Given the description of an element on the screen output the (x, y) to click on. 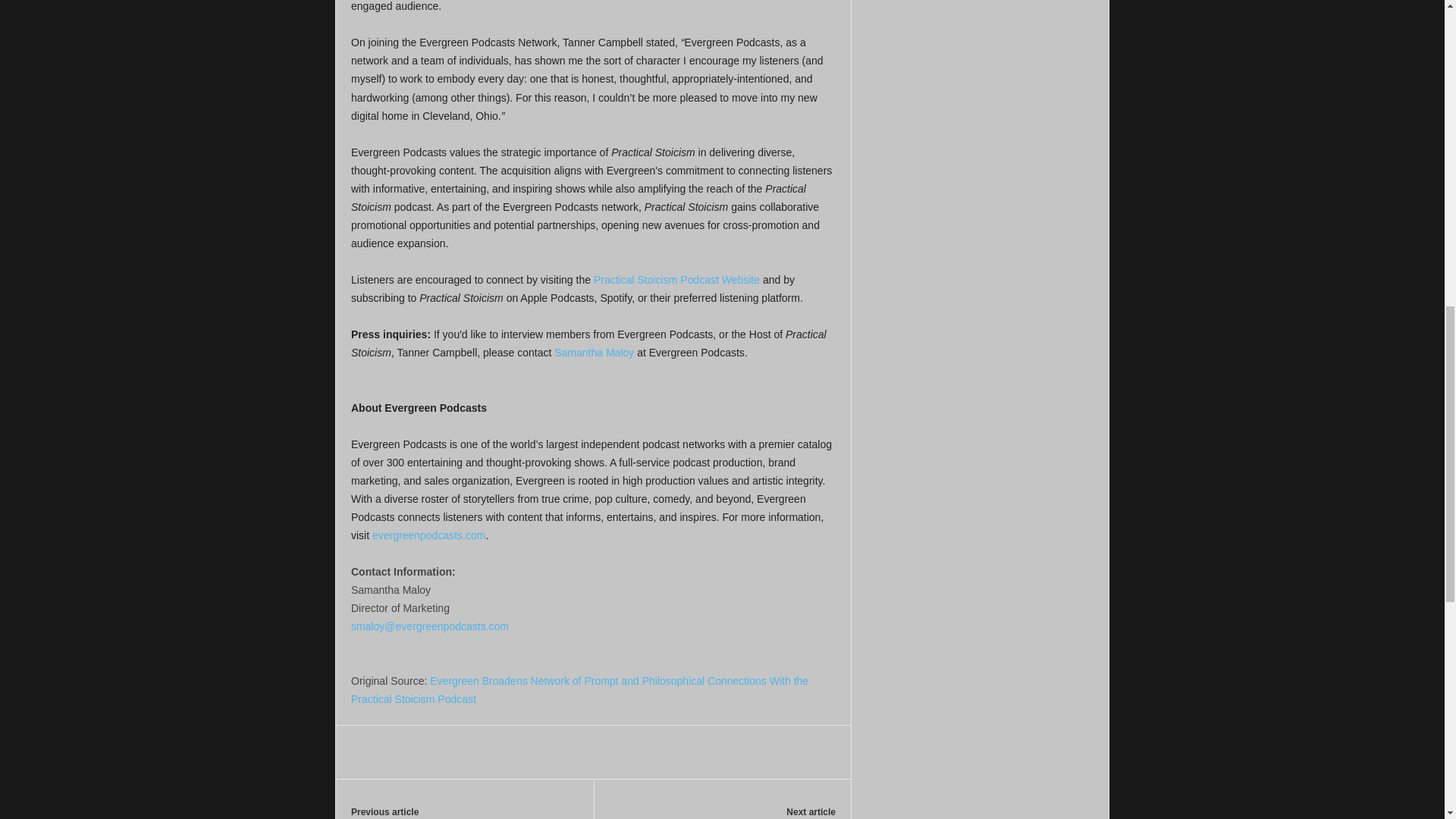
Practical Stoicism Podcast Website (677, 279)
Samantha Maloy (593, 352)
evergreenpodcasts.com (428, 535)
